Given the description of an element on the screen output the (x, y) to click on. 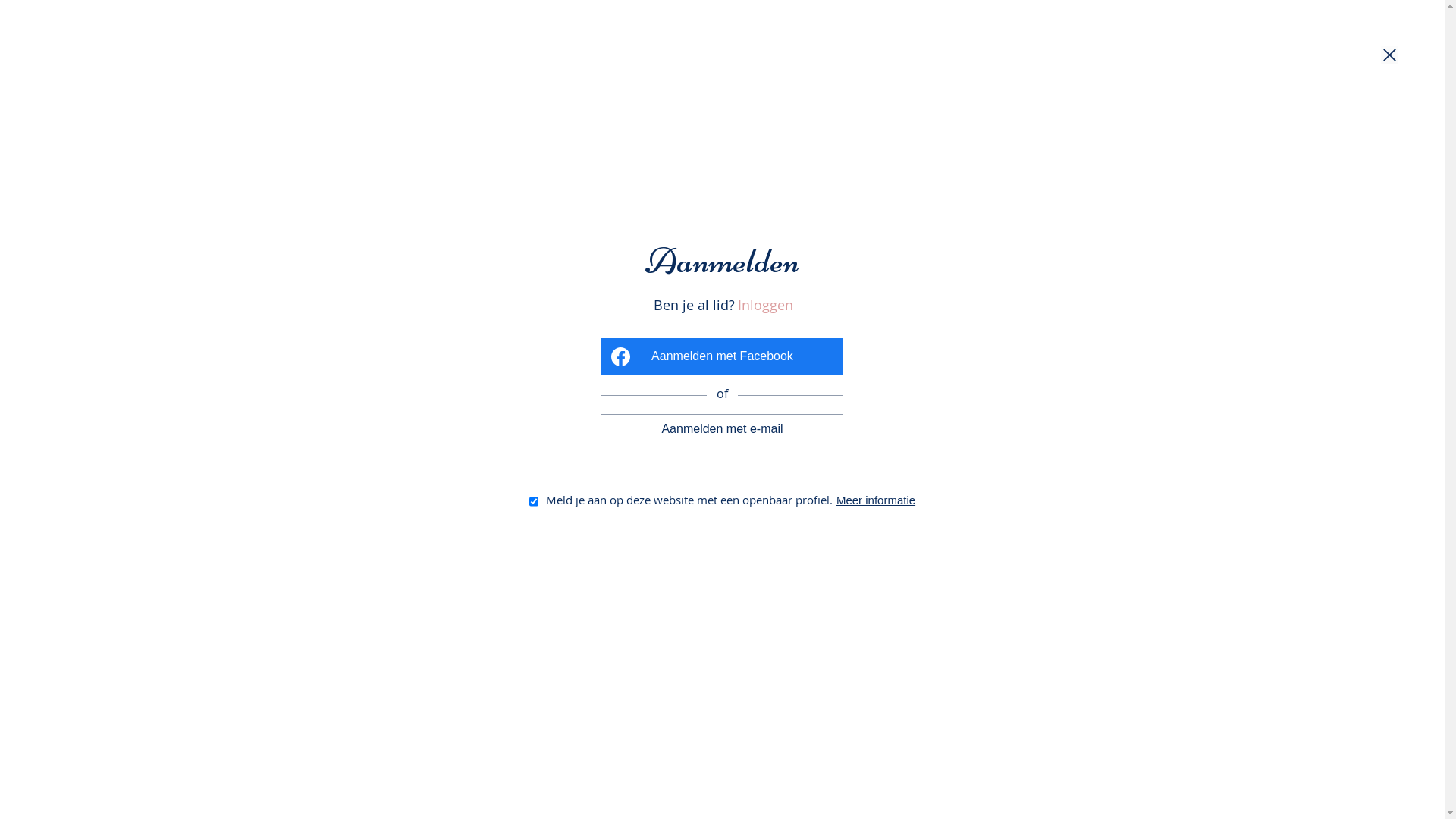
Aanmelden met e-mail Element type: text (721, 429)
Meer informatie Element type: text (870, 498)
Inloggen Element type: text (763, 305)
Aanmelden met Facebook Element type: text (721, 356)
